Given the description of an element on the screen output the (x, y) to click on. 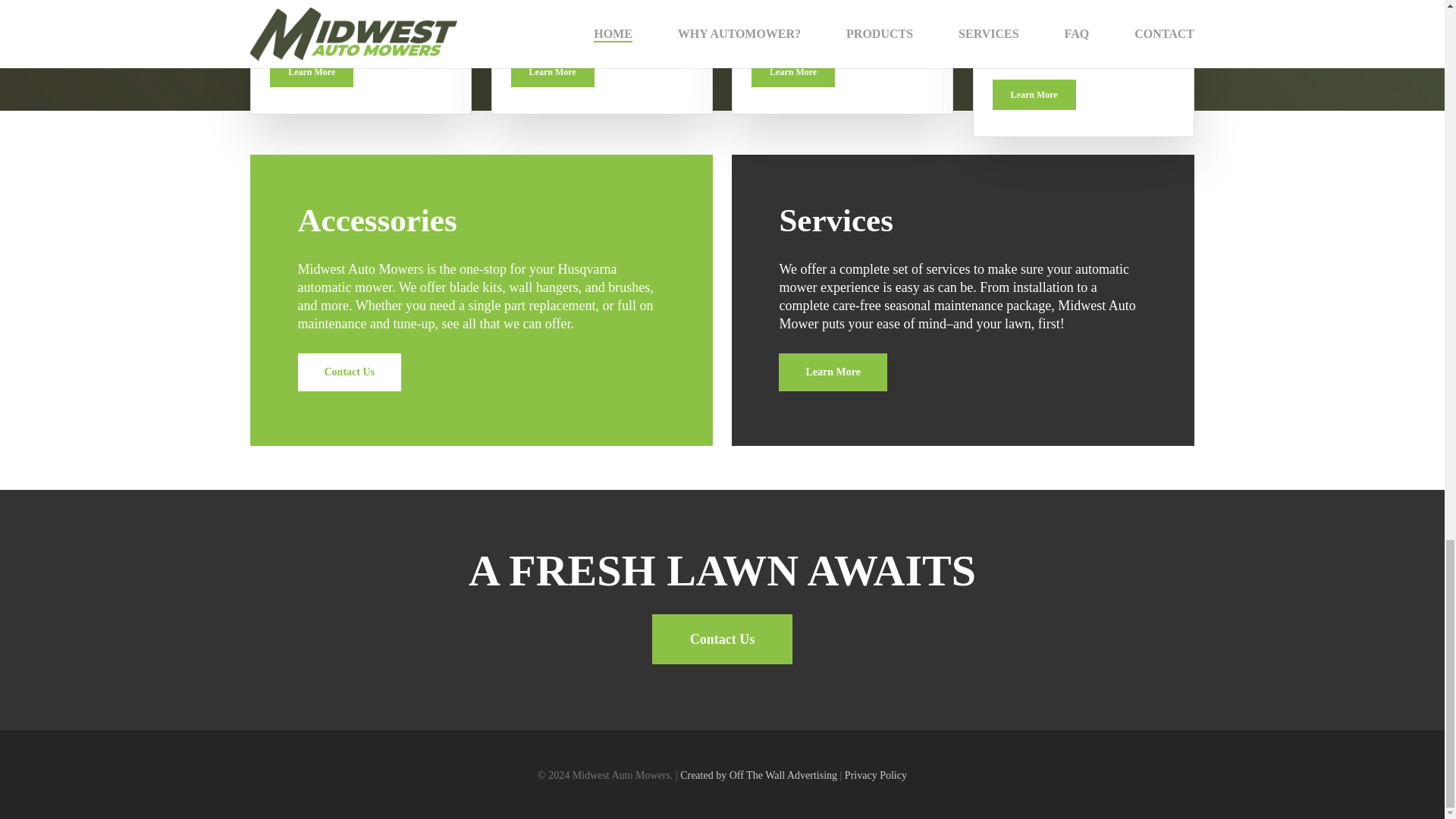
Contact Us (722, 639)
Contact Us (349, 371)
Privacy Policy (875, 775)
Learn More (552, 71)
Created by Off The Wall Advertising (758, 775)
Learn More (832, 371)
Learn More (792, 71)
Learn More (1033, 94)
Learn More (311, 71)
